Given the description of an element on the screen output the (x, y) to click on. 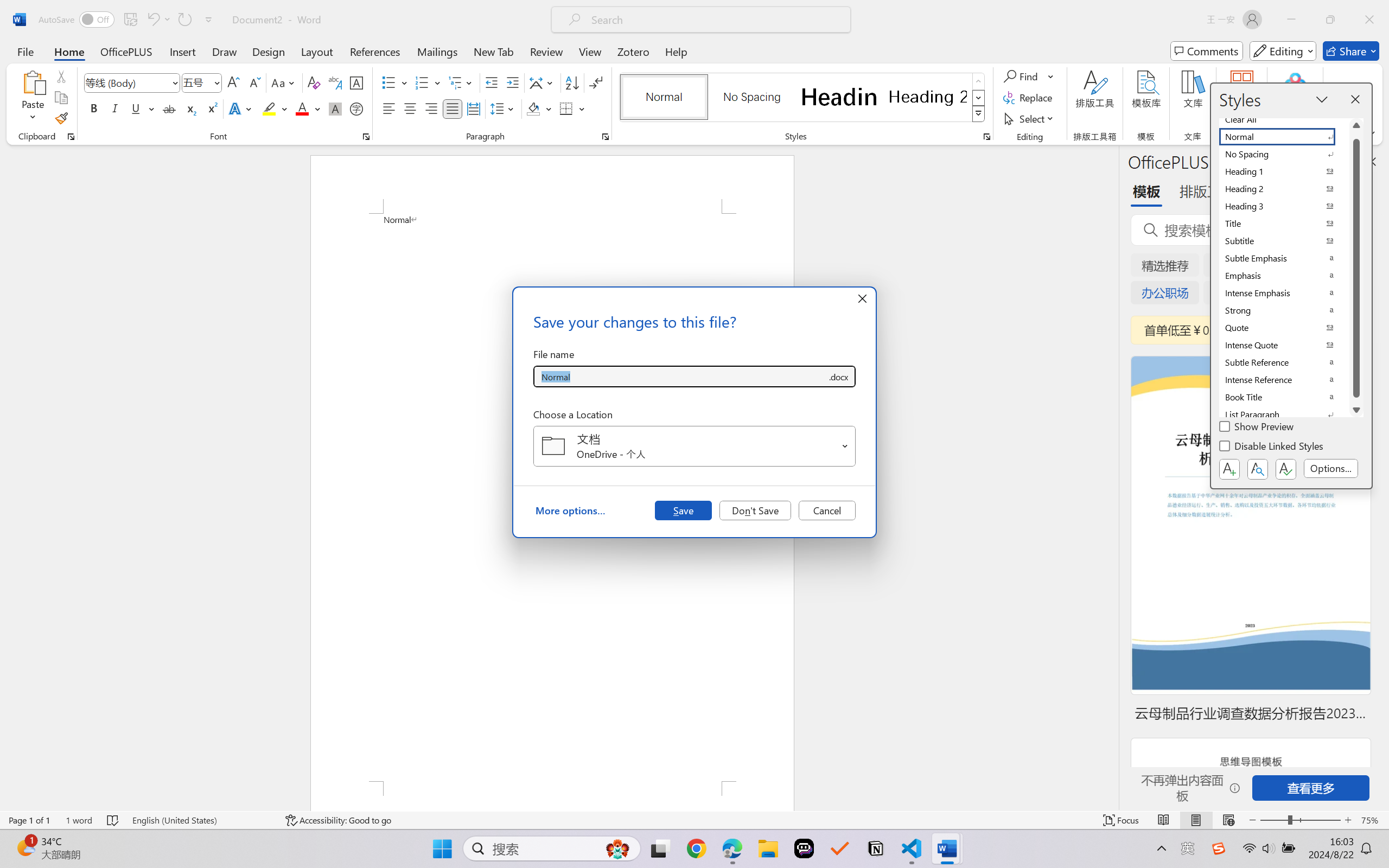
Cut (60, 75)
Focus  (1121, 819)
Font (126, 82)
Customize Quick Access Toolbar (208, 19)
Font Size (196, 82)
Paragraph... (605, 136)
Restore Down (1330, 19)
Distributed (473, 108)
Bullets (395, 82)
Class: Image (1218, 847)
